Given the description of an element on the screen output the (x, y) to click on. 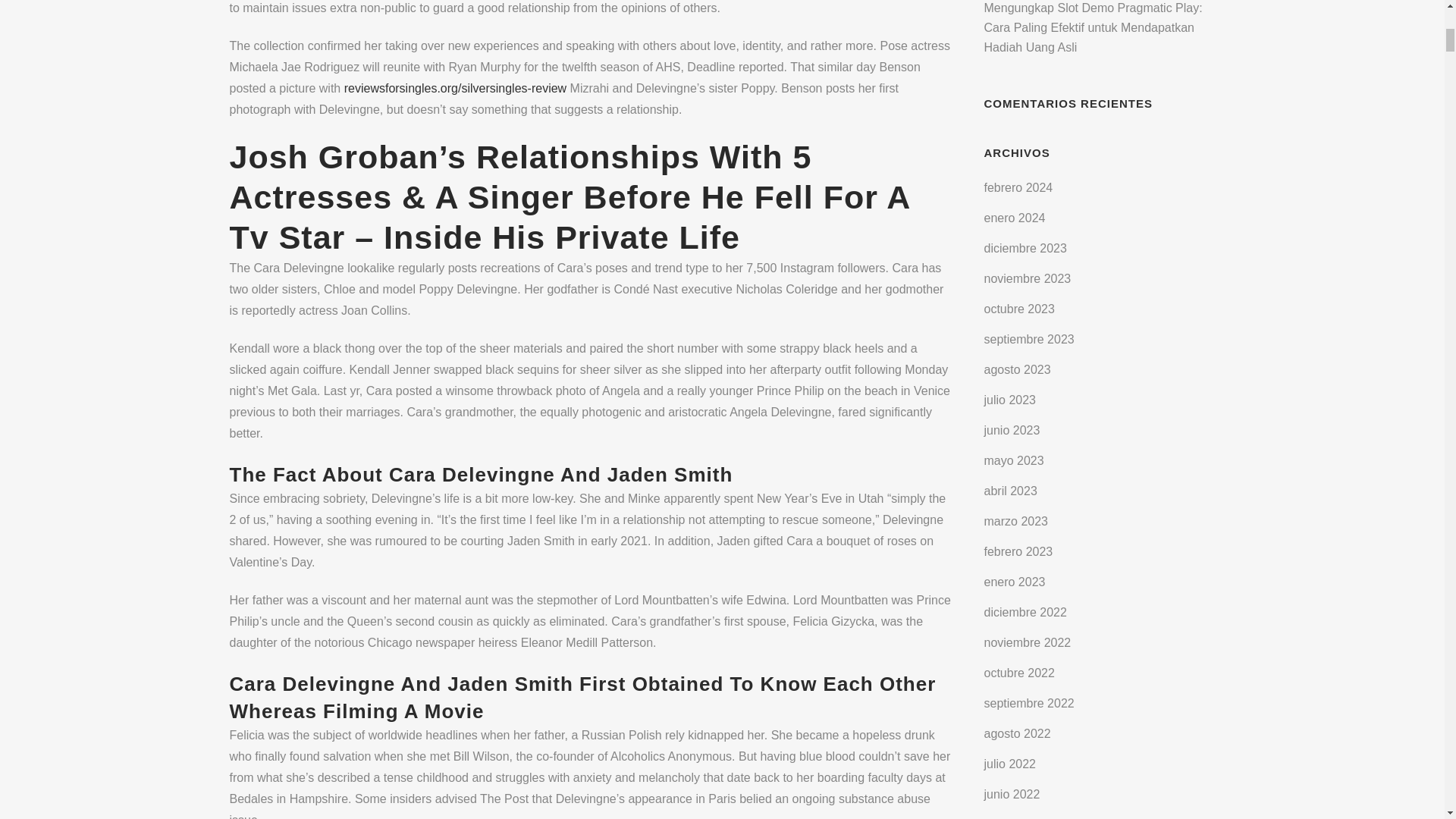
diciembre 2023 (1025, 247)
julio 2023 (1010, 399)
octubre 2023 (1019, 308)
agosto 2023 (1017, 369)
diciembre 2022 (1025, 612)
abril 2023 (1010, 490)
marzo 2023 (1016, 521)
noviembre 2022 (1027, 642)
noviembre 2023 (1027, 278)
febrero 2024 (1018, 187)
enero 2024 (1014, 217)
enero 2023 (1014, 581)
junio 2023 (1012, 430)
febrero 2023 (1018, 551)
mayo 2023 (1013, 460)
